Given the description of an element on the screen output the (x, y) to click on. 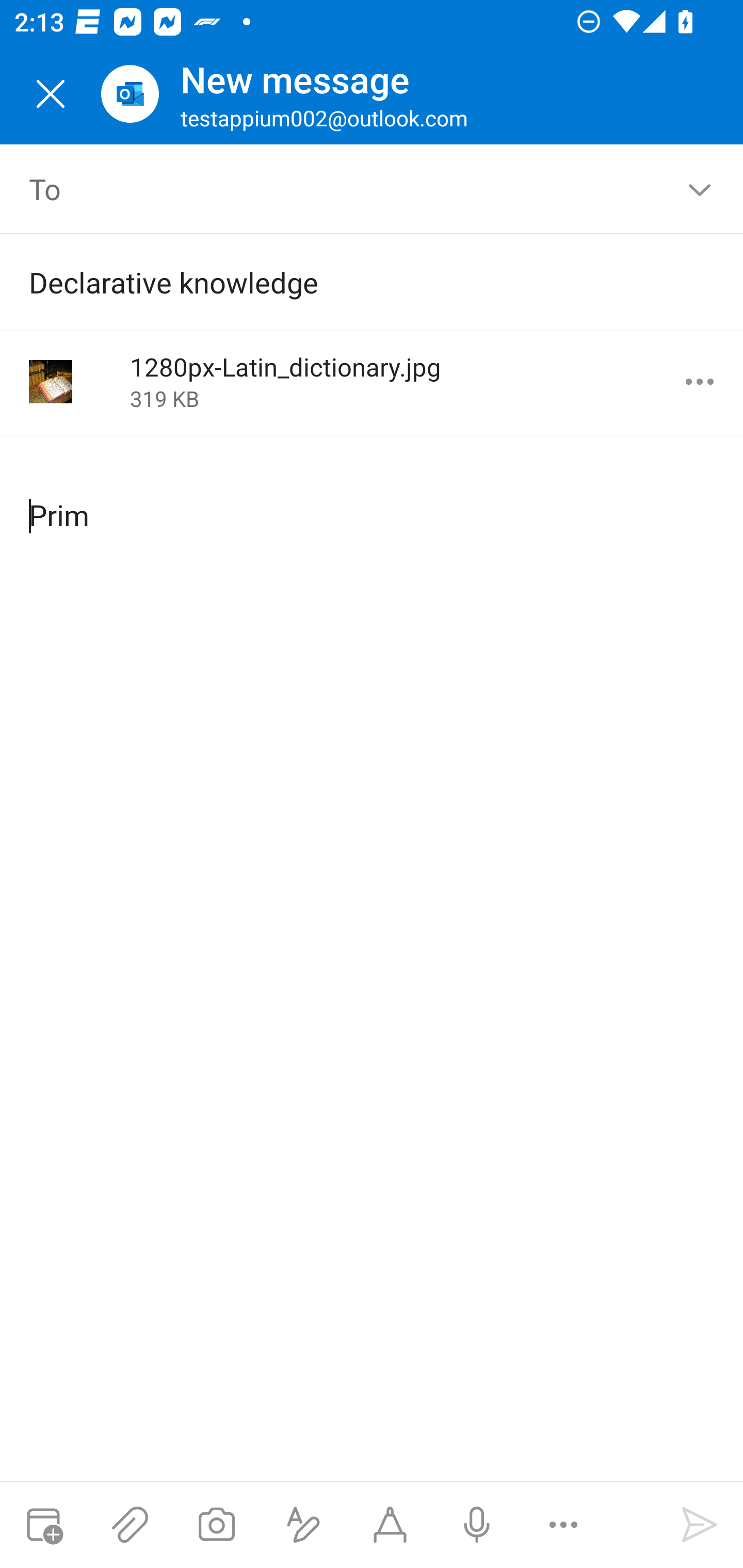
Close (50, 93)
Declarative knowledge (342, 281)
1280px-Latin_dictionary.jpg 319 KB More options (371, 382)
More options (699, 381)

Prim (372, 499)
Attach meeting (43, 1524)
Attach files (129, 1524)
Take a photo (216, 1524)
Show formatting options (303, 1524)
Start Ink compose (389, 1524)
Dictation (476, 1524)
More options (563, 1524)
Send (699, 1524)
